Given the description of an element on the screen output the (x, y) to click on. 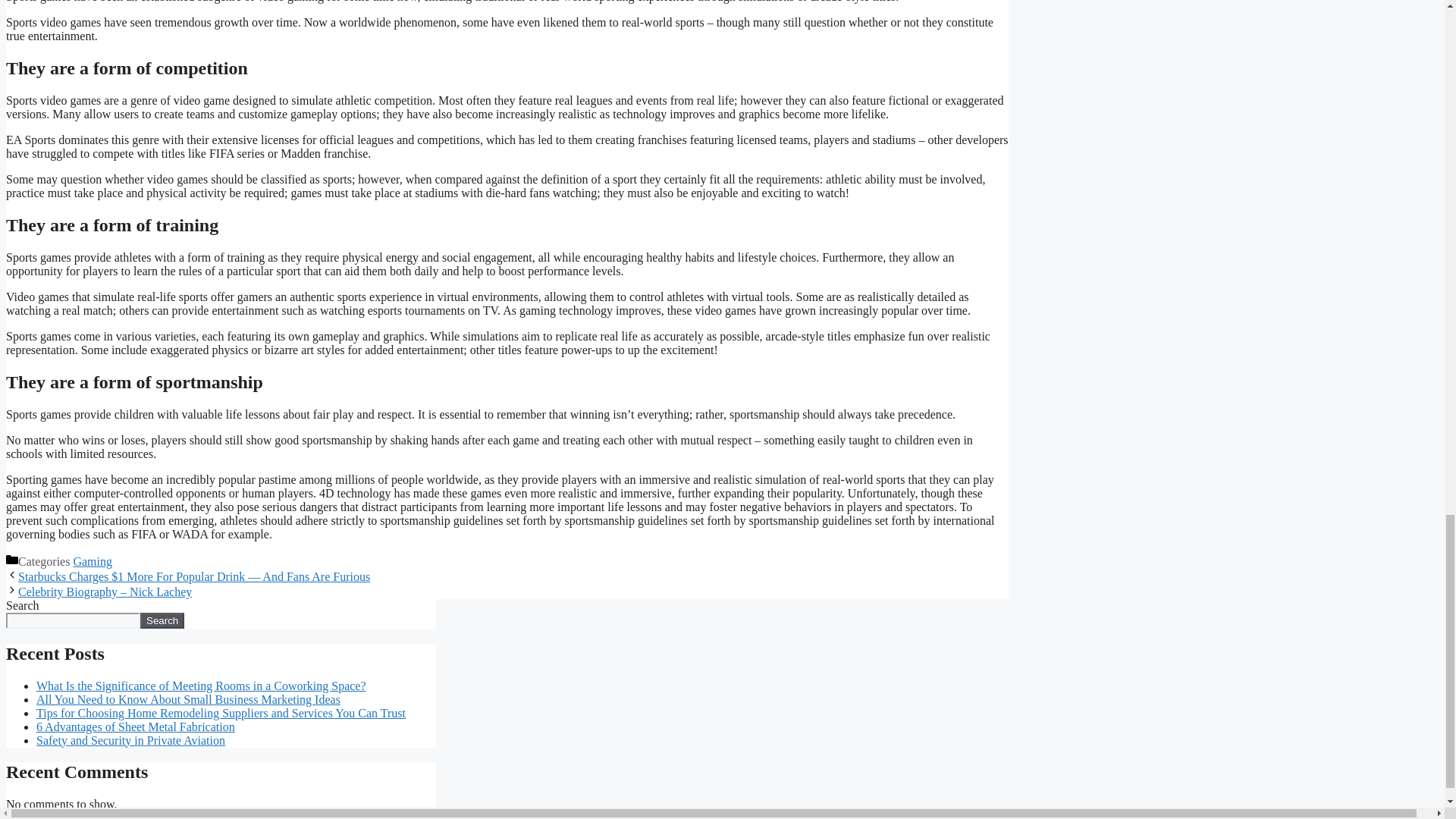
Safety and Security in Private Aviation (130, 739)
All You Need to Know About Small Business Marketing Ideas (188, 698)
Gaming (92, 561)
Search (161, 620)
6 Advantages of Sheet Metal Fabrication (135, 726)
